Given the description of an element on the screen output the (x, y) to click on. 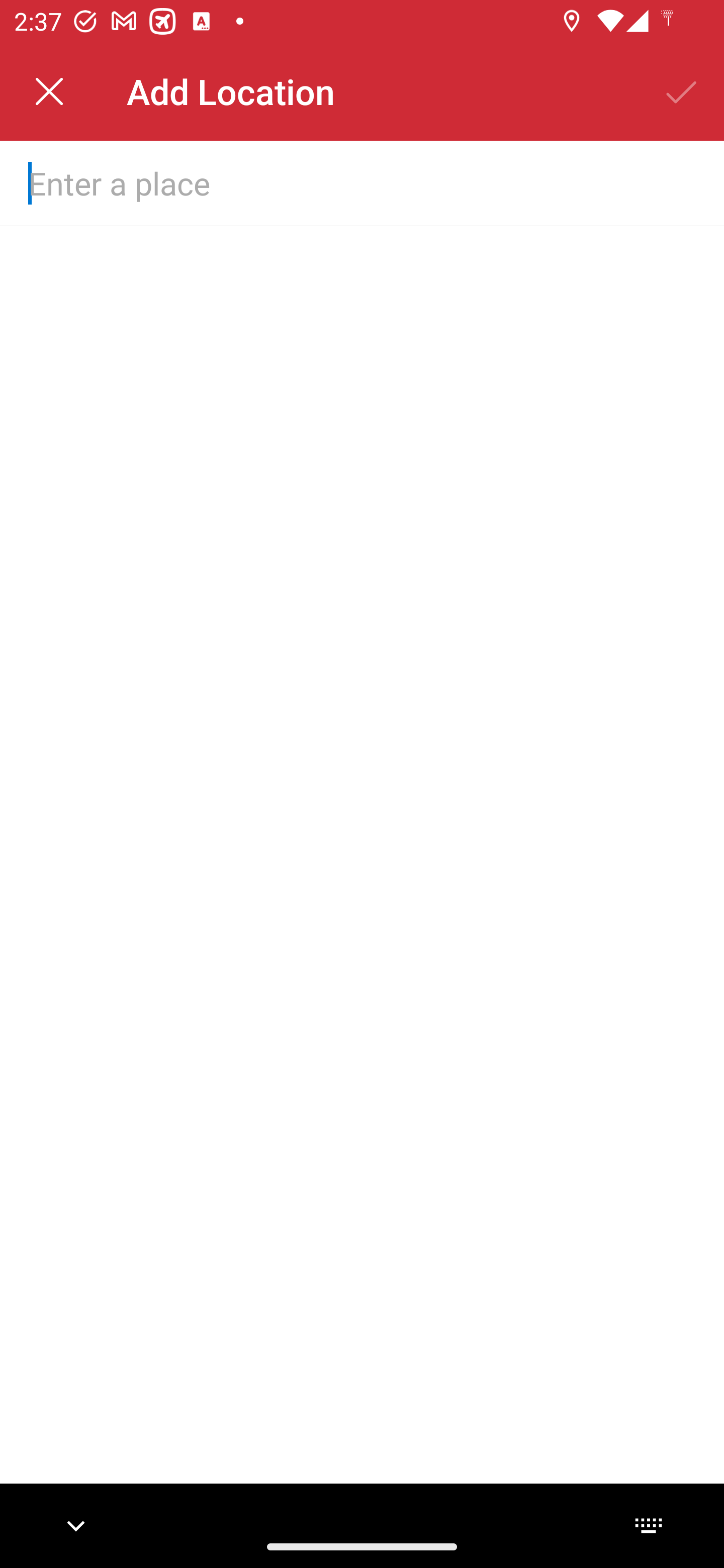
Close (49, 91)
Done (681, 91)
Enter a place (330, 182)
